Given the description of an element on the screen output the (x, y) to click on. 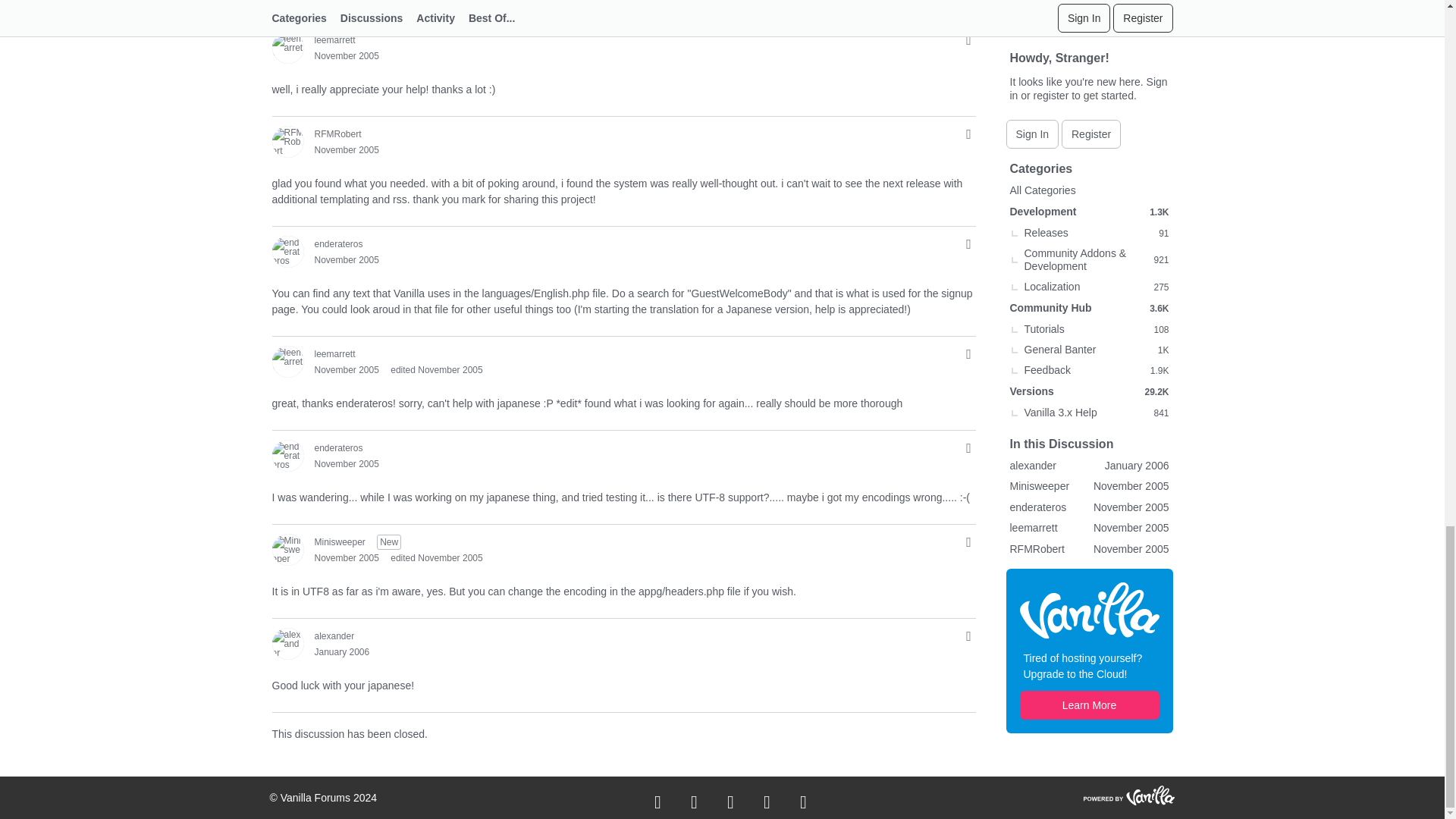
Powered By Vanilla (1128, 795)
